Given the description of an element on the screen output the (x, y) to click on. 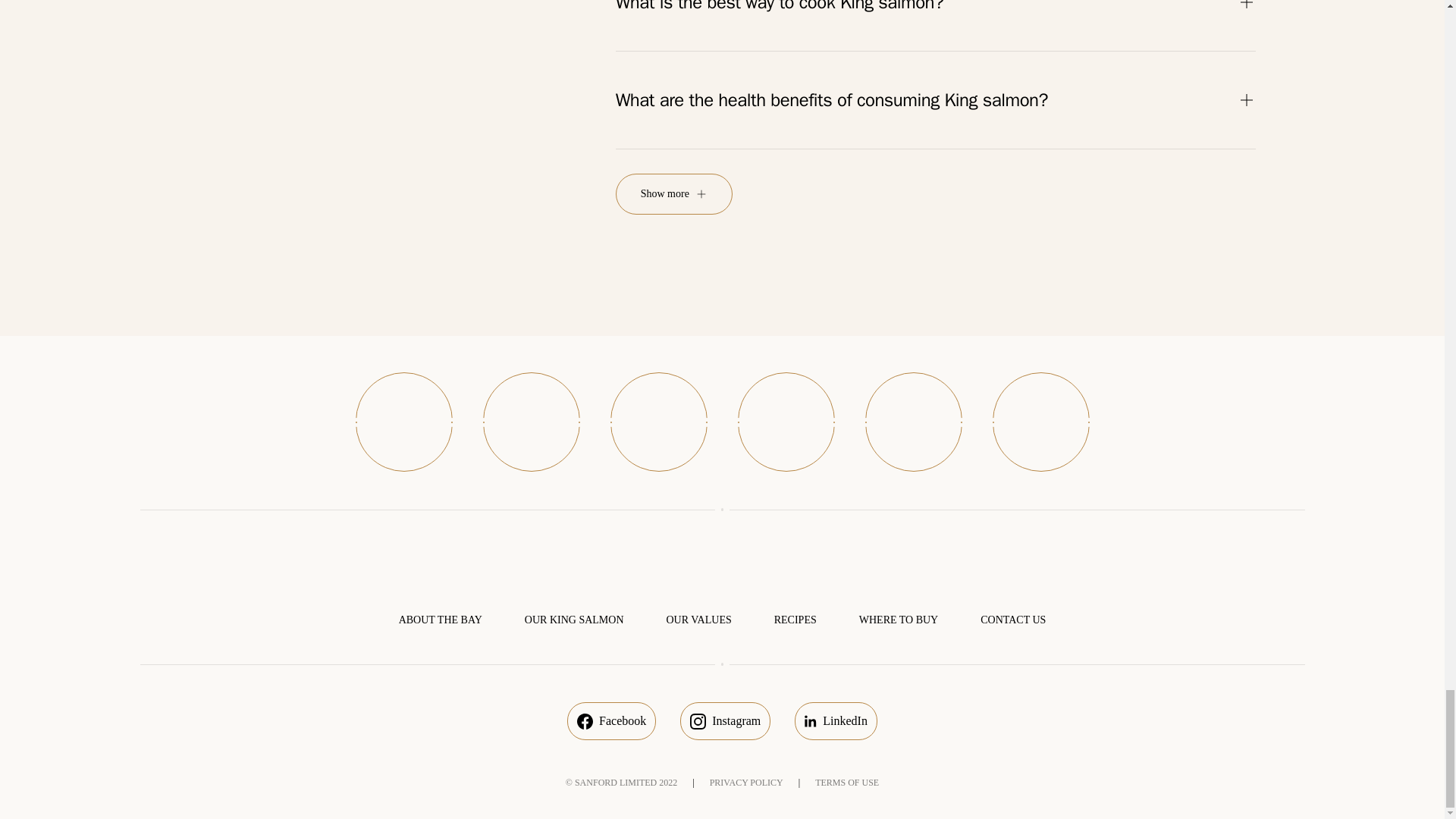
TERMS OF USE (847, 782)
Show more (673, 193)
Facebook (611, 720)
Instagram (725, 720)
Instagram (724, 720)
LinkedIn (835, 720)
OUR KING SALMON (574, 619)
Facebook (611, 720)
ABOUT THE BAY (439, 619)
LinkedIn (836, 720)
RECIPES (795, 619)
OUR VALUES (697, 619)
WHERE TO BUY (898, 619)
PRIVACY POLICY (746, 782)
CONTACT US (1012, 619)
